Given the description of an element on the screen output the (x, y) to click on. 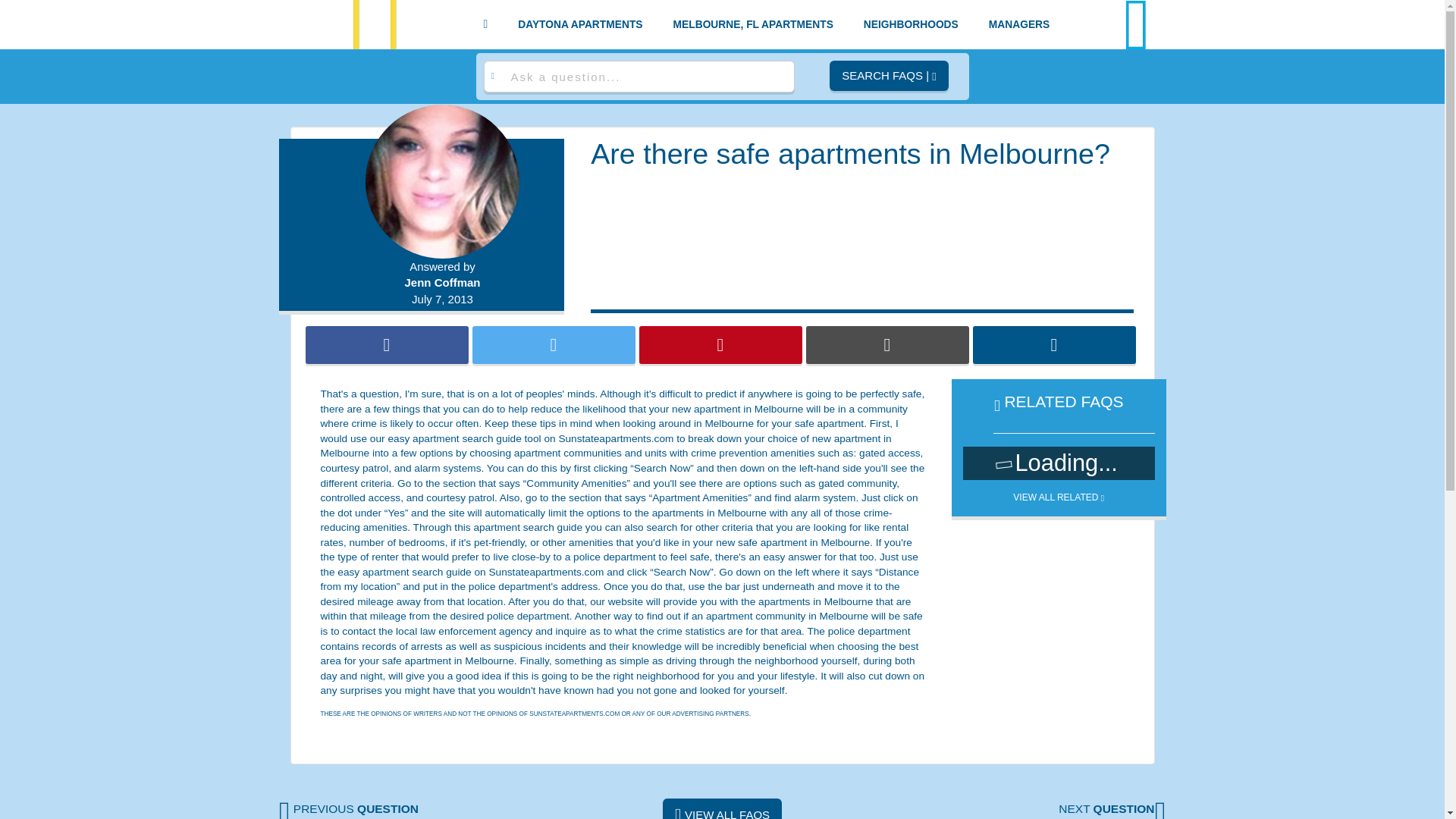
Share on Pinterest (720, 344)
Daytona Beach Apartments (579, 24)
VIEW ALL RELATED  (1058, 491)
 VIEW ALL FAQS (721, 808)
DAYTONA APARTMENTS (579, 24)
Manager Log-In (1018, 24)
MELBOURNE, FL APARTMENTS (753, 24)
MANAGERS (1018, 24)
Email this article to someone (886, 344)
Jenn Coffman (442, 282)
